Given the description of an element on the screen output the (x, y) to click on. 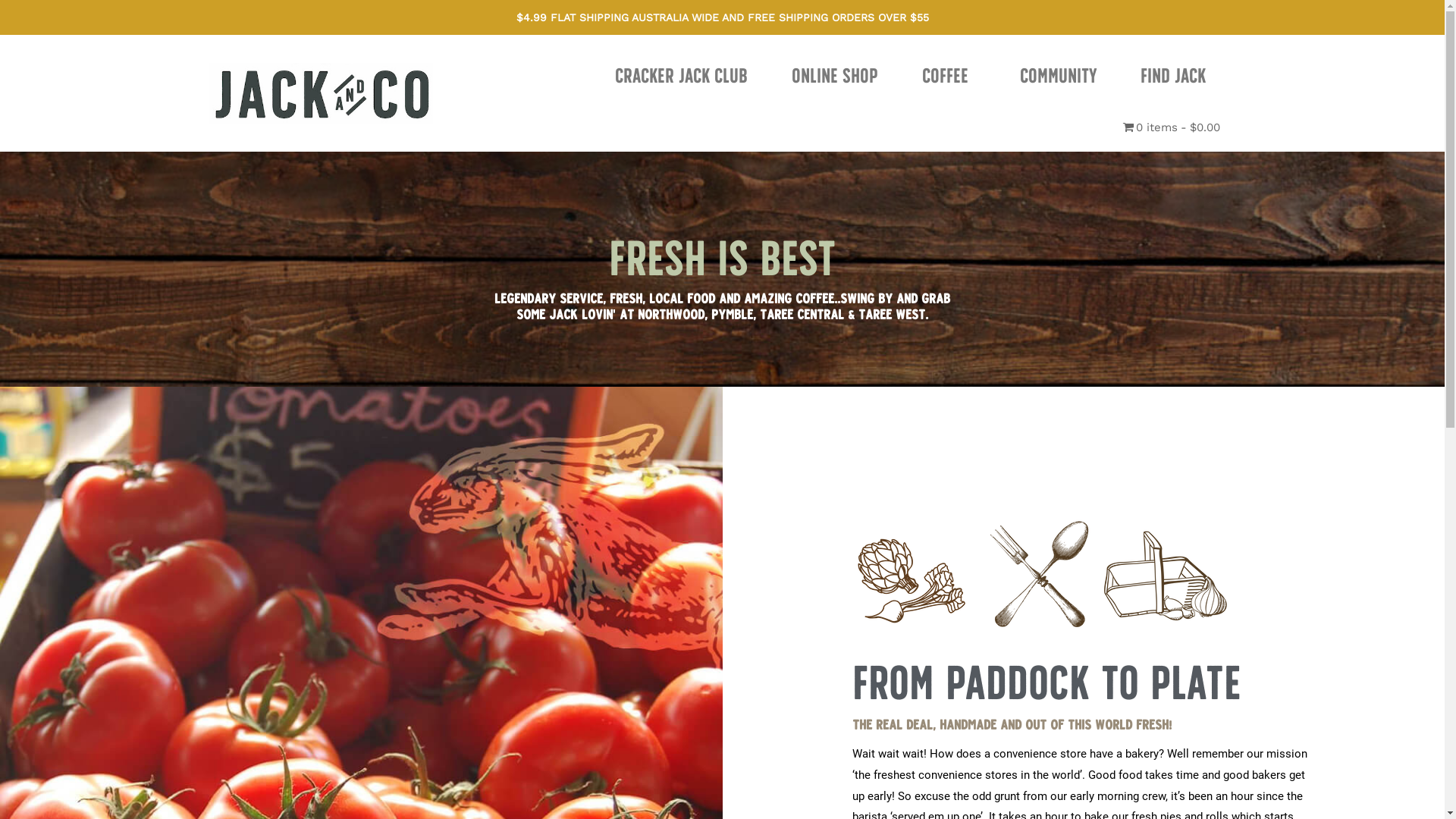
COMMUNITY Element type: text (1057, 75)
CRACKER JACK CLUB Element type: text (680, 75)
ONLINE SHOP Element type: text (834, 75)
FIND JACK Element type: text (1176, 75)
COFFEE Element type: text (949, 75)
0 items
$0.00 Element type: text (1171, 126)
